Given the description of an element on the screen output the (x, y) to click on. 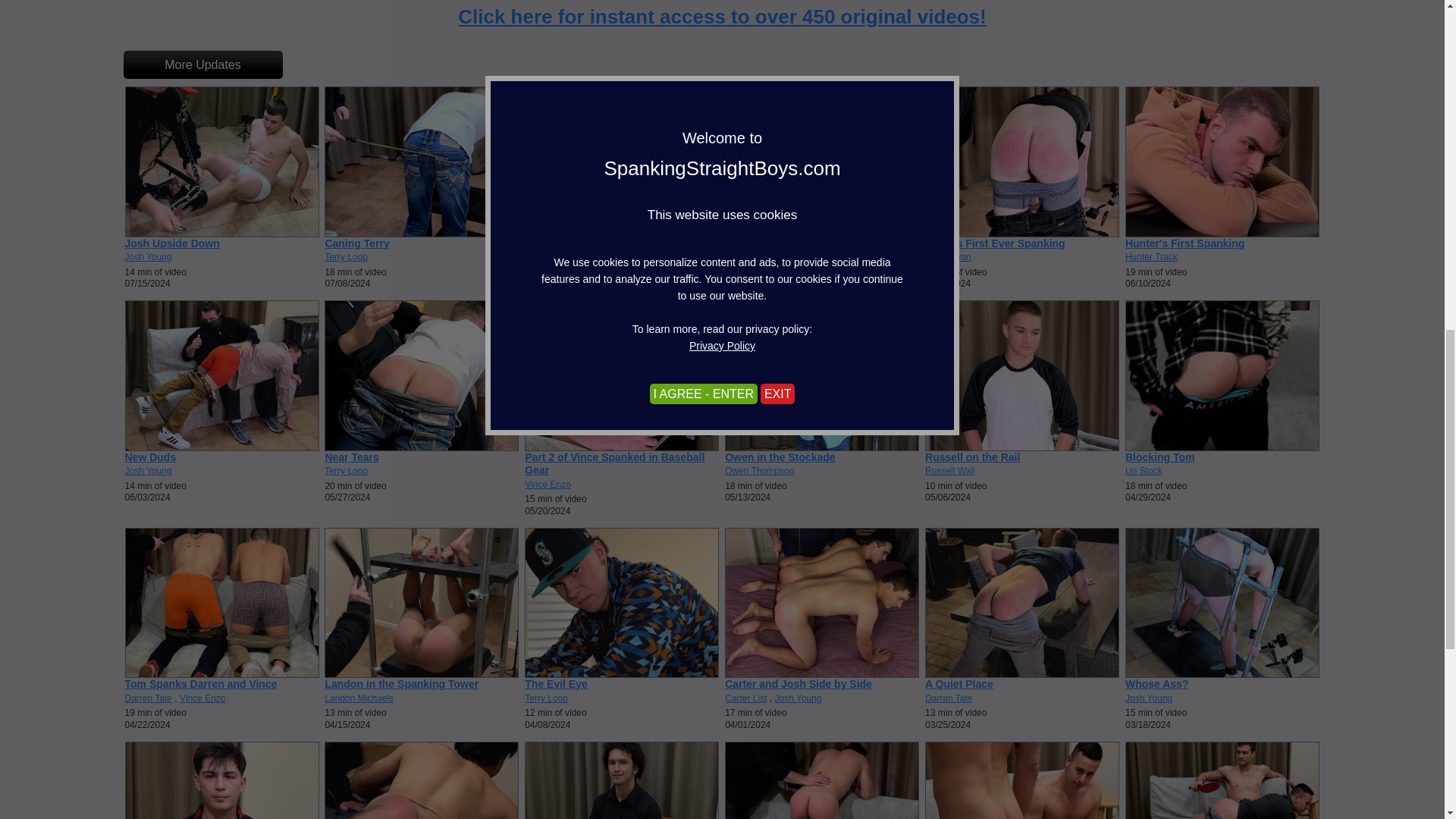
Click here for instant access to over 450 original videos! (721, 15)
Cal Wheeler (549, 256)
Josh Young (147, 256)
Basic Knowledge (568, 243)
Caning Terry (356, 243)
Vince's Wedgie Spanking (789, 243)
Terry Loop (346, 256)
Josh Upside Down (171, 243)
